Given the description of an element on the screen output the (x, y) to click on. 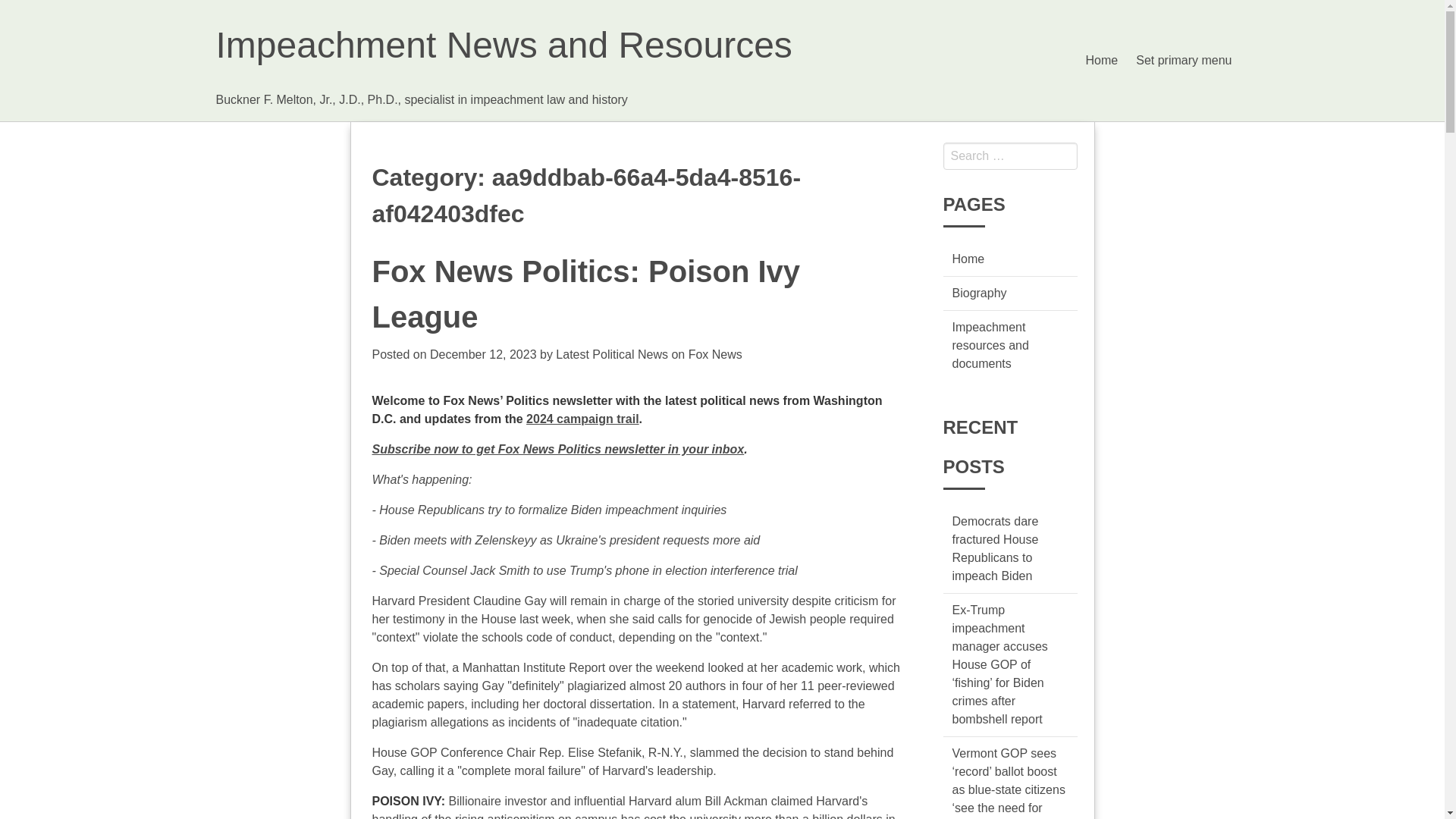
Search (25, 9)
December 12, 2023 (483, 354)
Impeachment resources and documents (990, 345)
Home (1101, 60)
Home (968, 258)
stand behind Gay (632, 761)
use Trump's phone (598, 570)
Manhattan Institute Report (534, 667)
